Given the description of an element on the screen output the (x, y) to click on. 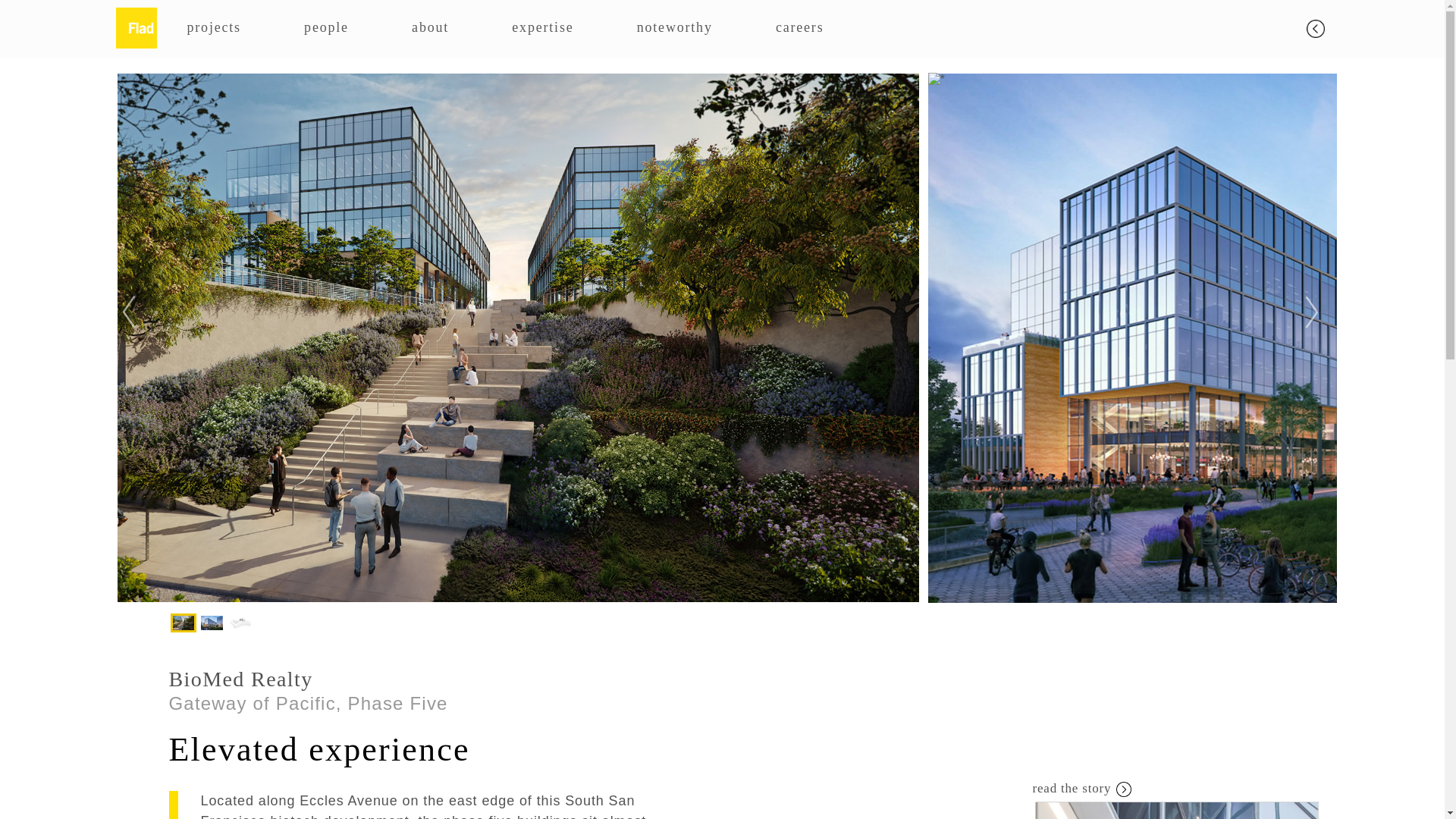
expertise (542, 27)
about (430, 27)
careers (800, 27)
projects (213, 27)
noteworthy (675, 27)
read the story (1177, 788)
people (326, 27)
